Given the description of an element on the screen output the (x, y) to click on. 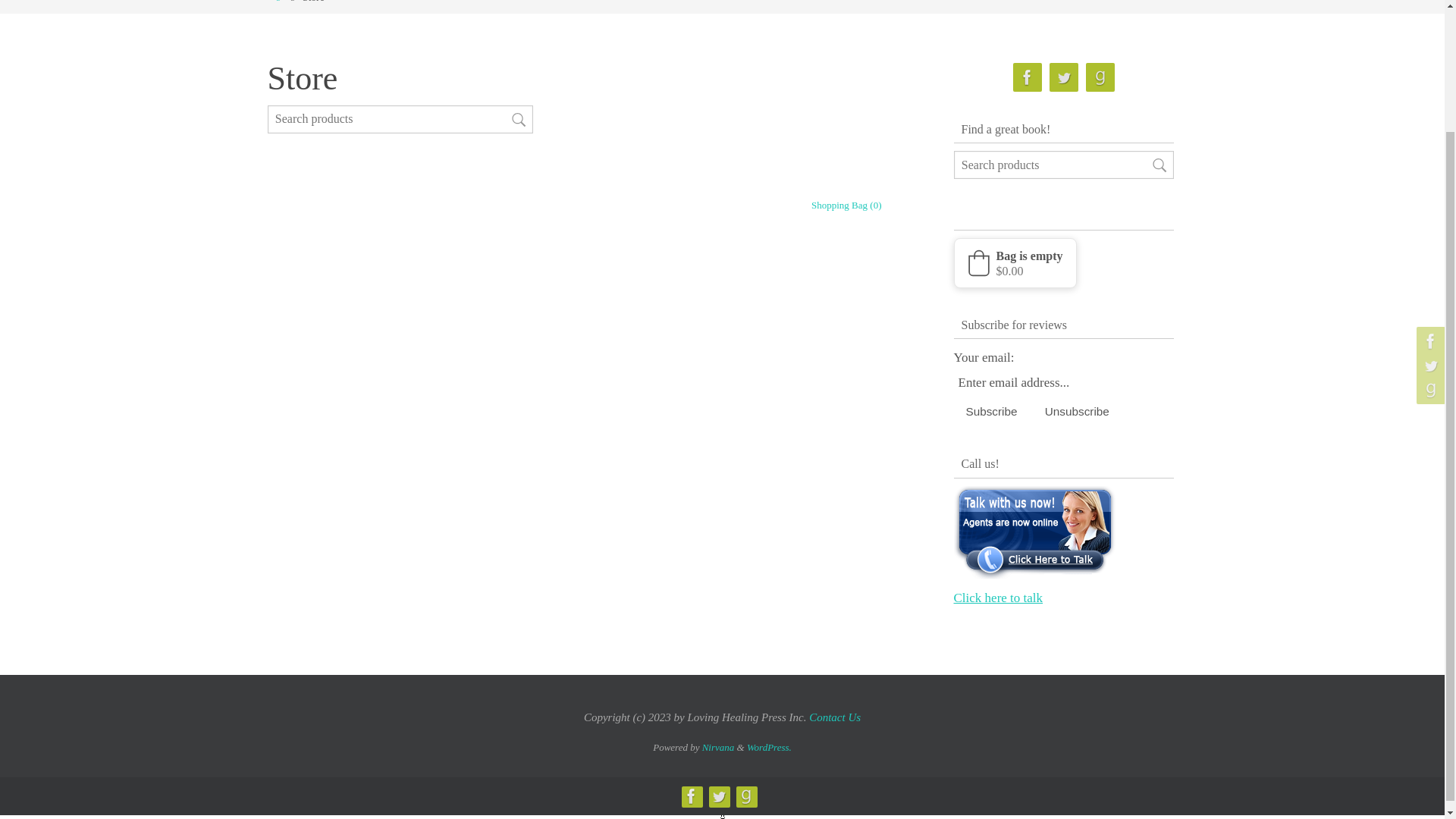
Twitter (1063, 77)
Subscribe (991, 411)
GoodReads (1100, 77)
Enter email address... (1037, 382)
Unsubscribe (1076, 411)
Nirvana Theme by Cryout Creations (718, 747)
Facebook (1027, 77)
